Given the description of an element on the screen output the (x, y) to click on. 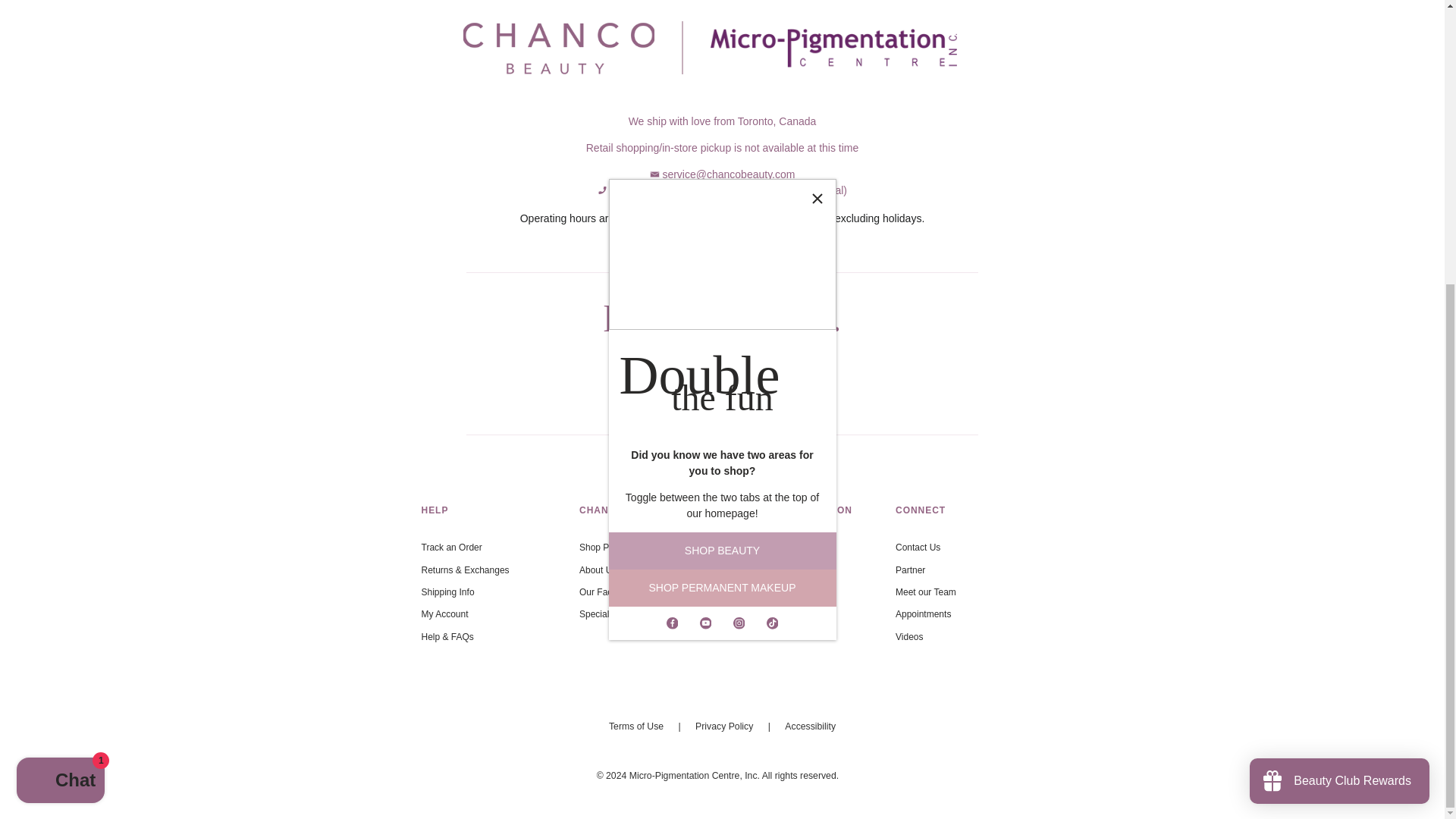
Email (654, 174)
Shopify online store chat (60, 355)
